Given the description of an element on the screen output the (x, y) to click on. 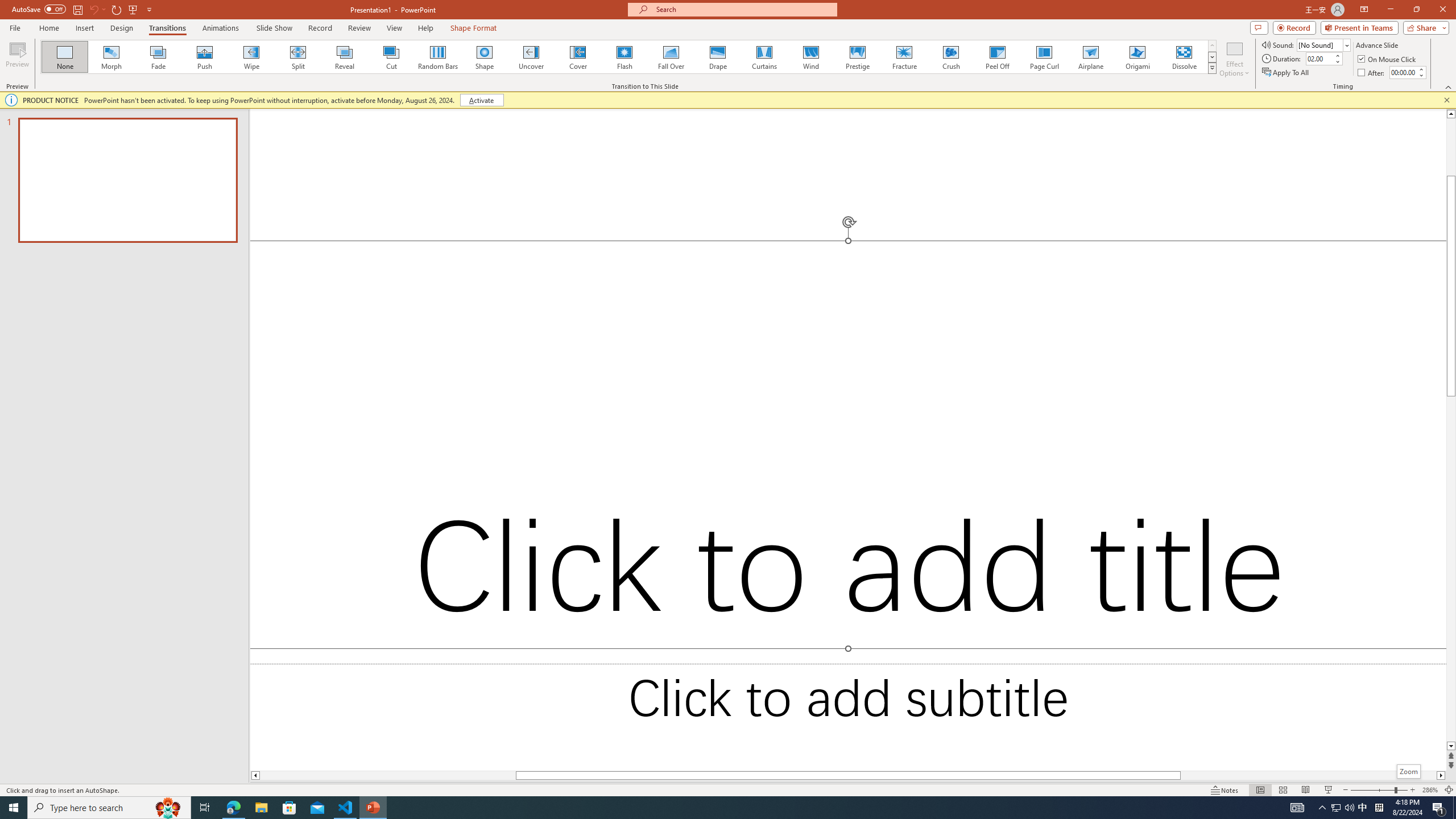
Split (298, 56)
Origami (1136, 56)
Apply To All (1286, 72)
Close this message (1446, 99)
